Given the description of an element on the screen output the (x, y) to click on. 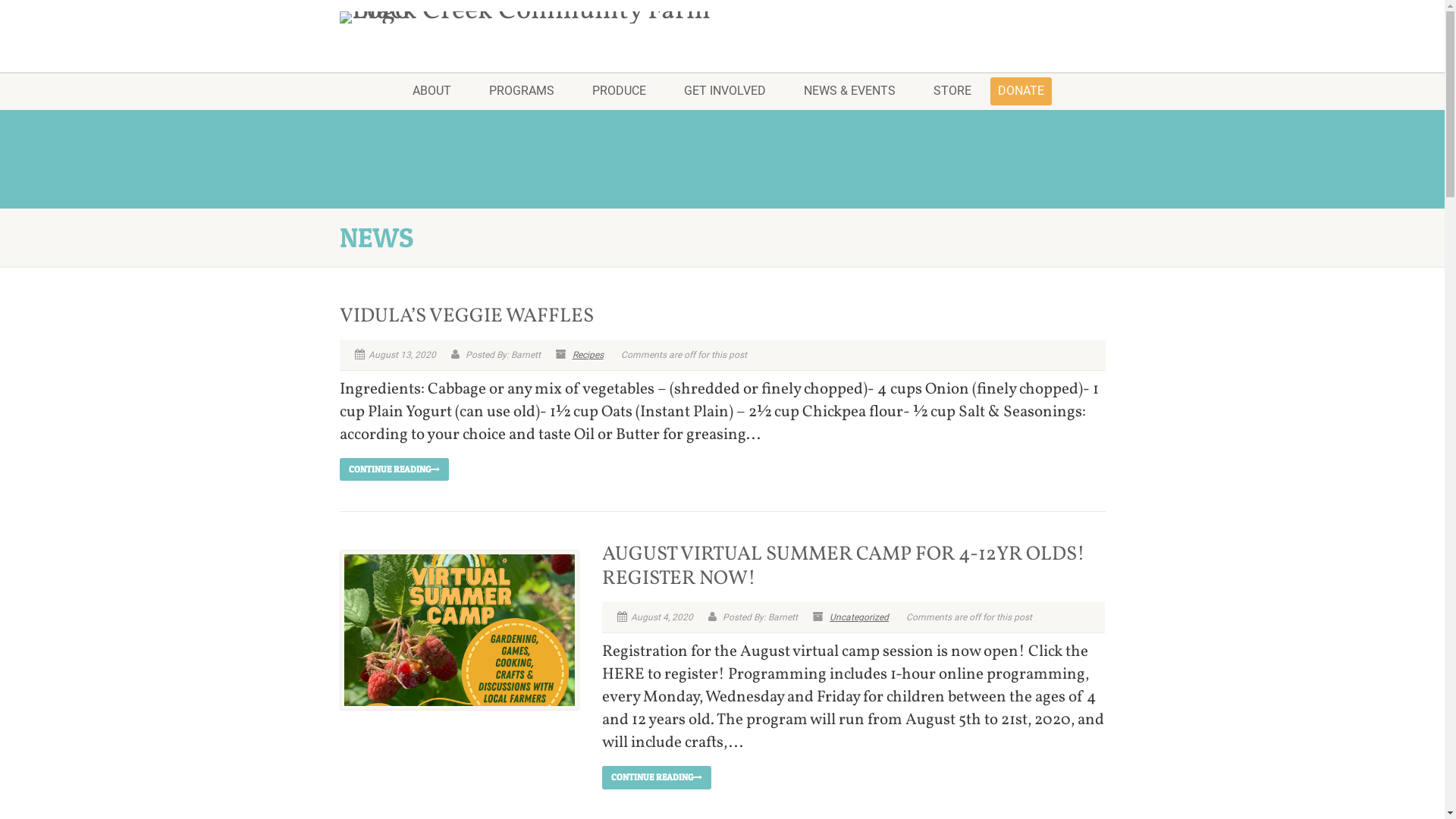
GET INVOLVED Element type: text (724, 90)
Black Creek Community Farm Logo Element type: hover (525, 17)
CONTINUE READING Element type: text (656, 776)
NEWS & EVENTS Element type: text (848, 90)
AUGUST VIRTUAL SUMMER CAMP FOR 4-12YR OLDS! REGISTER NOW! Element type: text (843, 566)
PROGRAMS Element type: text (521, 90)
PRODUCE Element type: text (619, 90)
ABOUT Element type: text (430, 90)
STORE Element type: text (952, 90)
Uncategorized Element type: text (858, 616)
Recipes Element type: text (586, 354)
DONATE Element type: text (1020, 91)
CONTINUE READING Element type: text (393, 469)
